Given the description of an element on the screen output the (x, y) to click on. 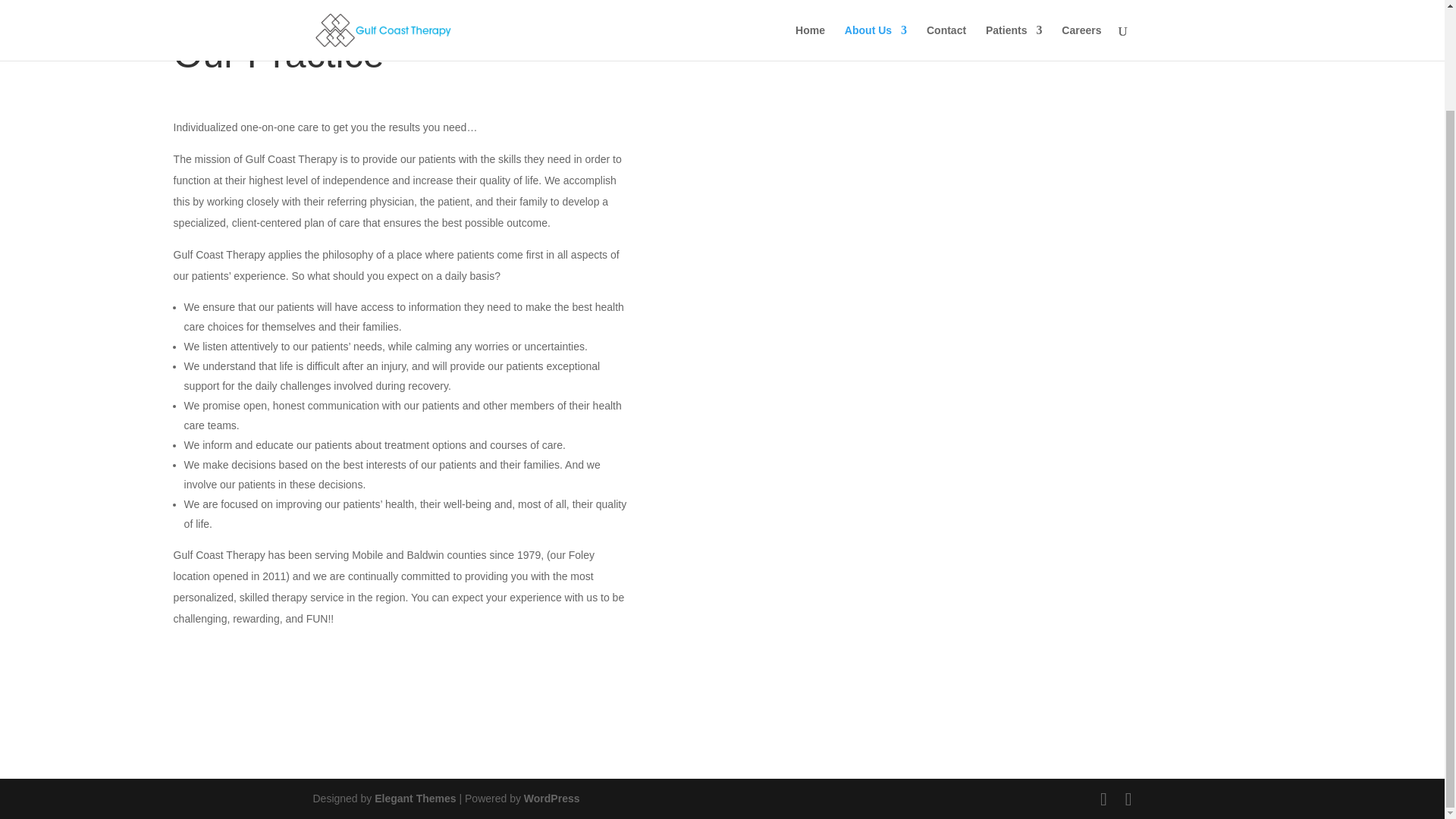
Premium WordPress Themes (414, 798)
WordPress (551, 798)
Elegant Themes (414, 798)
